Given the description of an element on the screen output the (x, y) to click on. 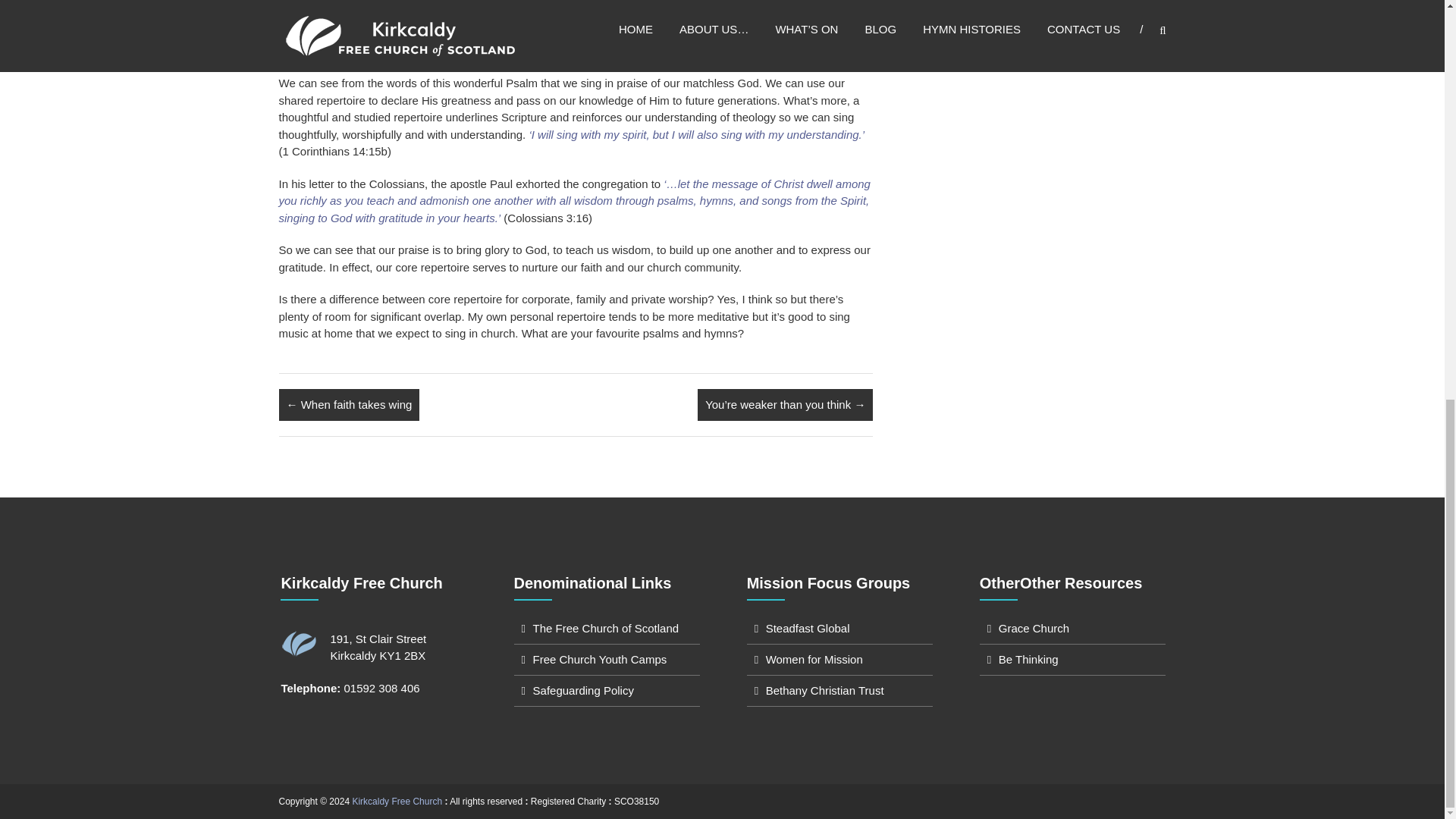
Free Church Youth Camps (599, 658)
The Free Church of Scotland (605, 627)
Kirkcaldy Free Church (397, 801)
Safeguarding Policy (582, 689)
Steadfast Global (807, 627)
